Given the description of an element on the screen output the (x, y) to click on. 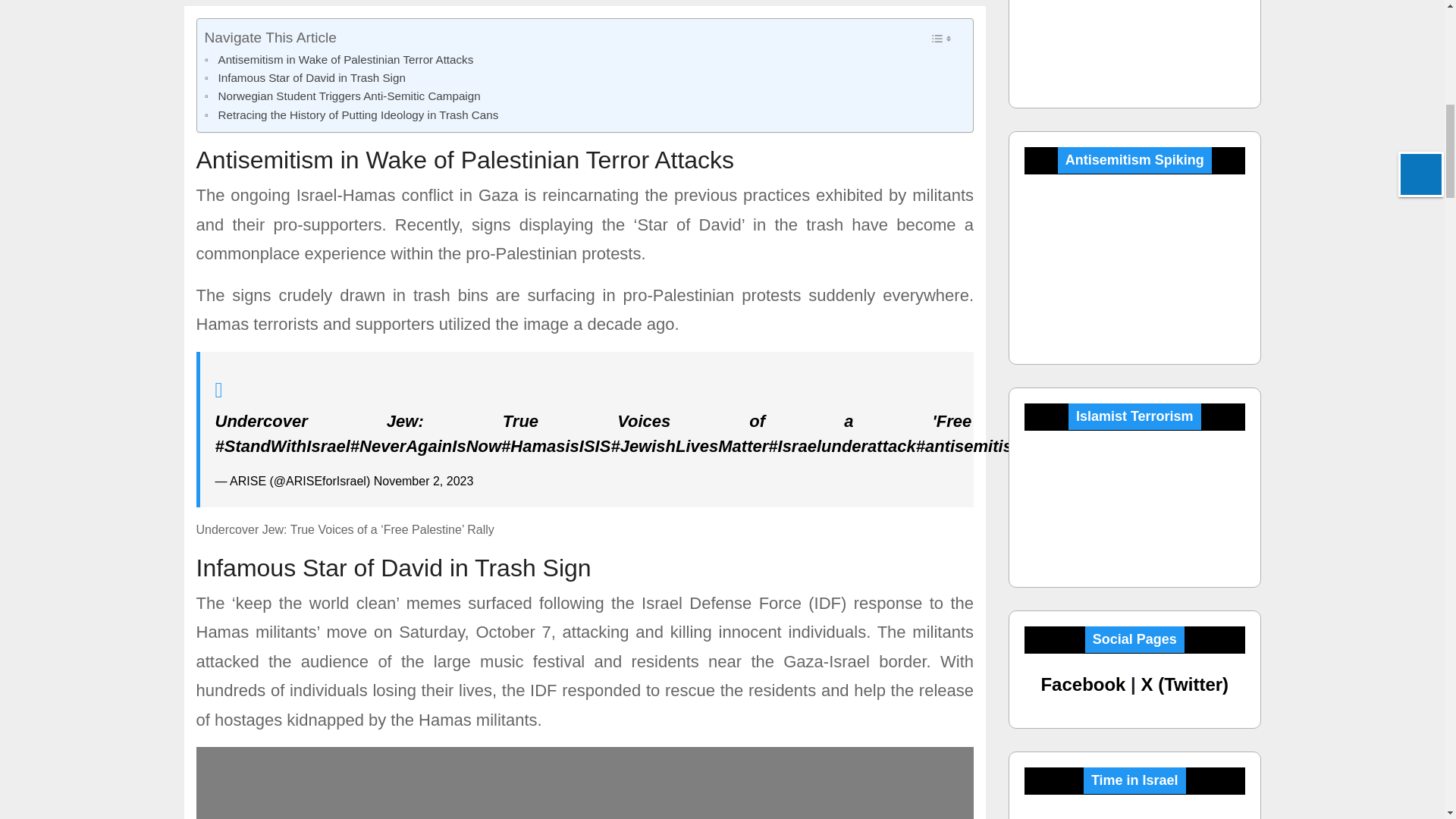
Retracing the History of Putting Ideology in Trash Cans (352, 115)
Infamous Star of David in Trash Sign (305, 77)
Norwegian Student Triggers Anti-Semitic Campaign (342, 95)
Antisemitism in Wake of Palestinian Terror Attacks (339, 59)
